Given the description of an element on the screen output the (x, y) to click on. 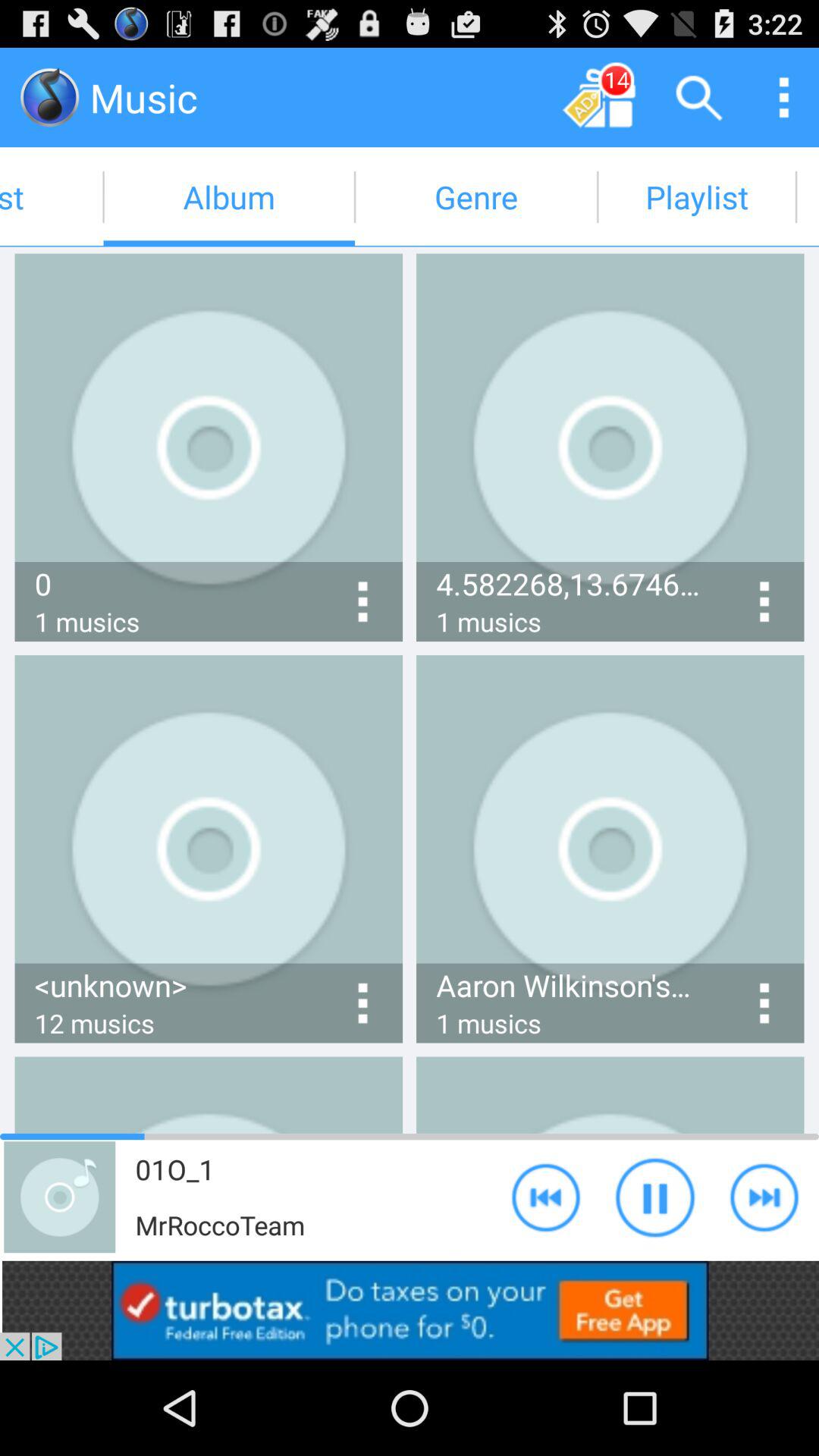
app option (699, 97)
